Given the description of an element on the screen output the (x, y) to click on. 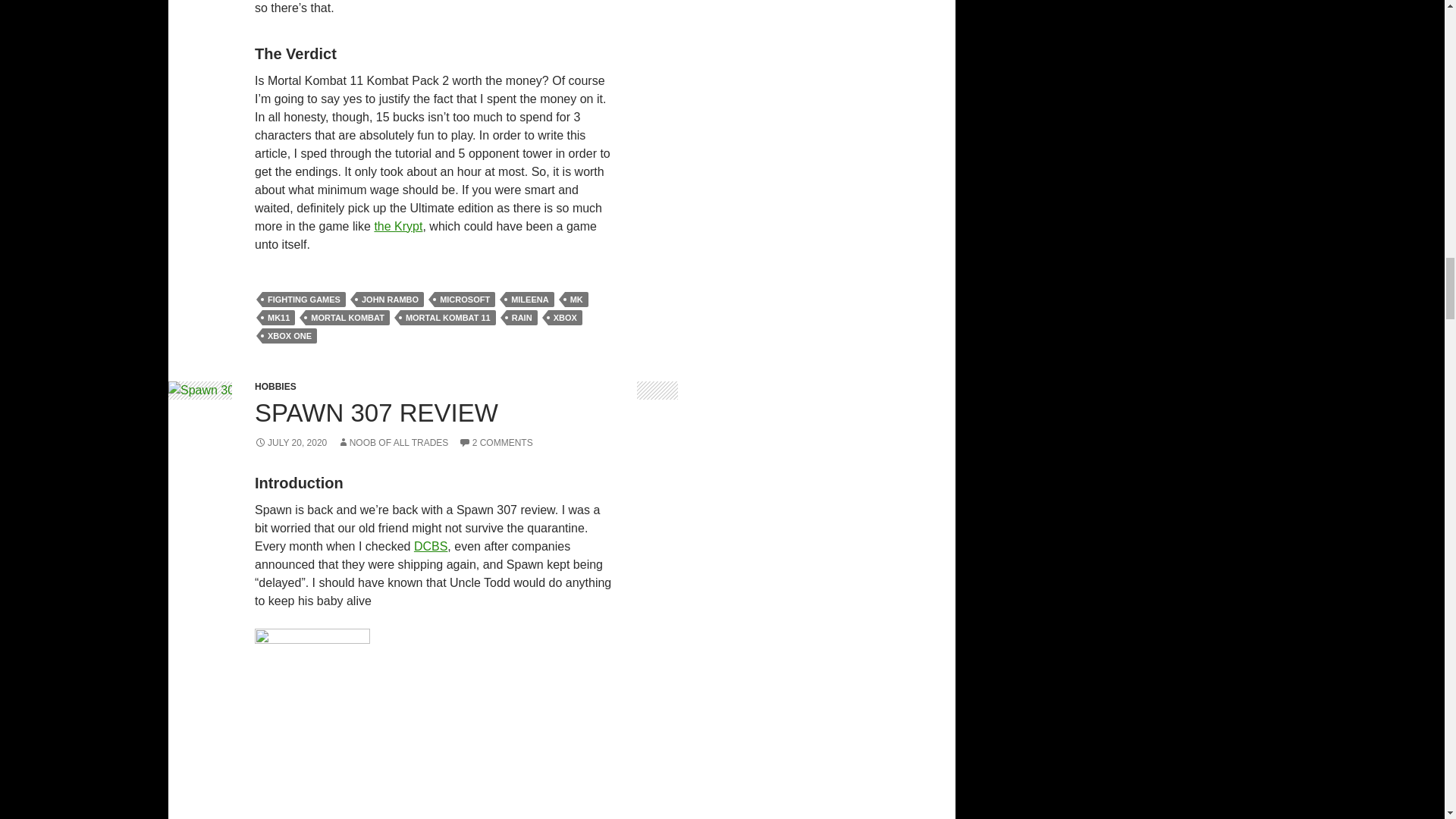
MK (576, 299)
JOHN RAMBO (389, 299)
FIGHTING GAMES (304, 299)
MORTAL KOMBAT (347, 317)
MICROSOFT (464, 299)
MILEENA (529, 299)
RAIN (521, 317)
XBOX (565, 317)
MORTAL KOMBAT 11 (448, 317)
MK11 (278, 317)
the Krypt (398, 226)
